Given the description of an element on the screen output the (x, y) to click on. 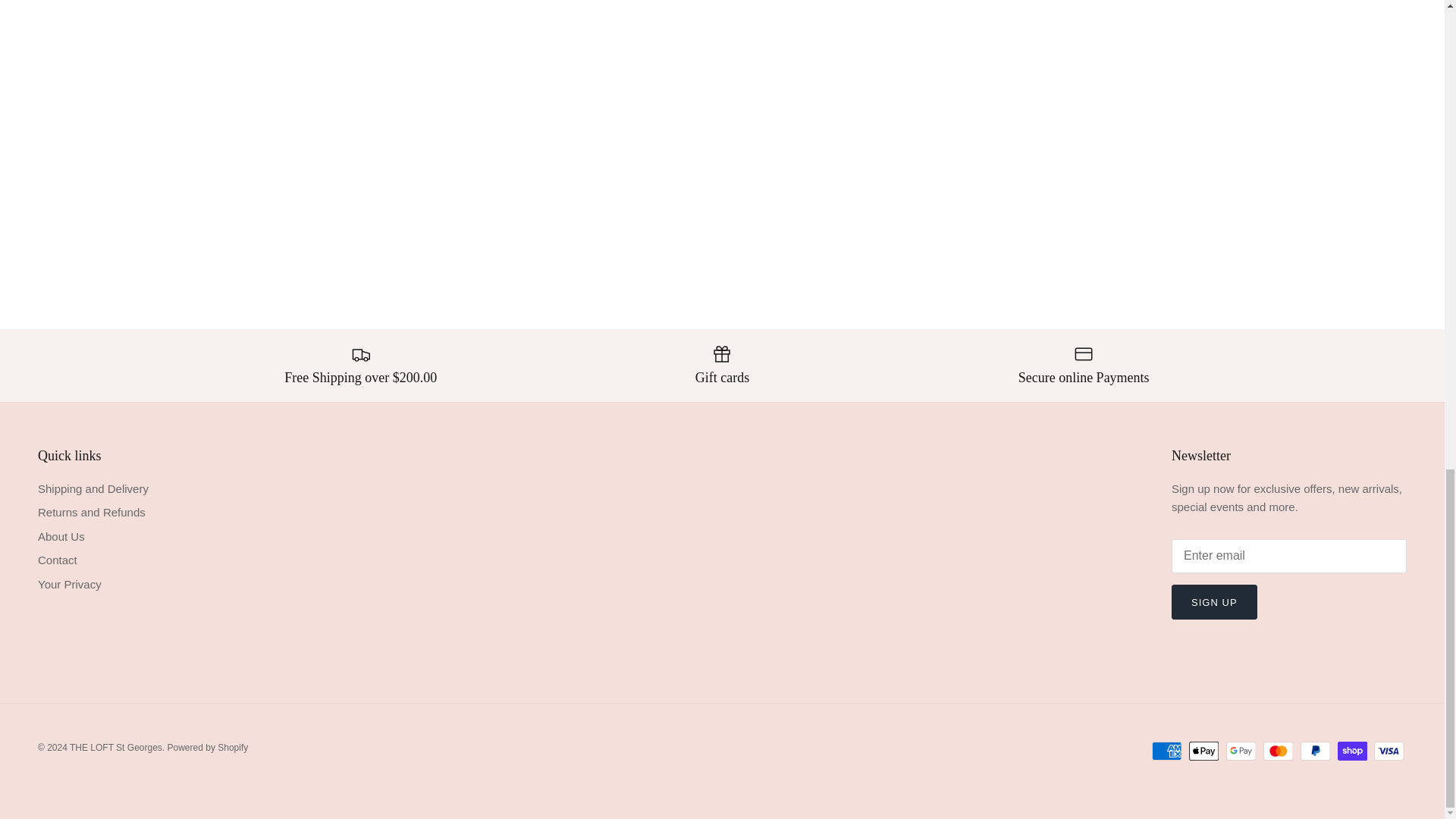
American Express (1166, 751)
Visa (1388, 751)
Google Pay (1240, 751)
Shop Pay (1352, 751)
Mastercard (1277, 751)
PayPal (1315, 751)
Apple Pay (1203, 751)
